Given the description of an element on the screen output the (x, y) to click on. 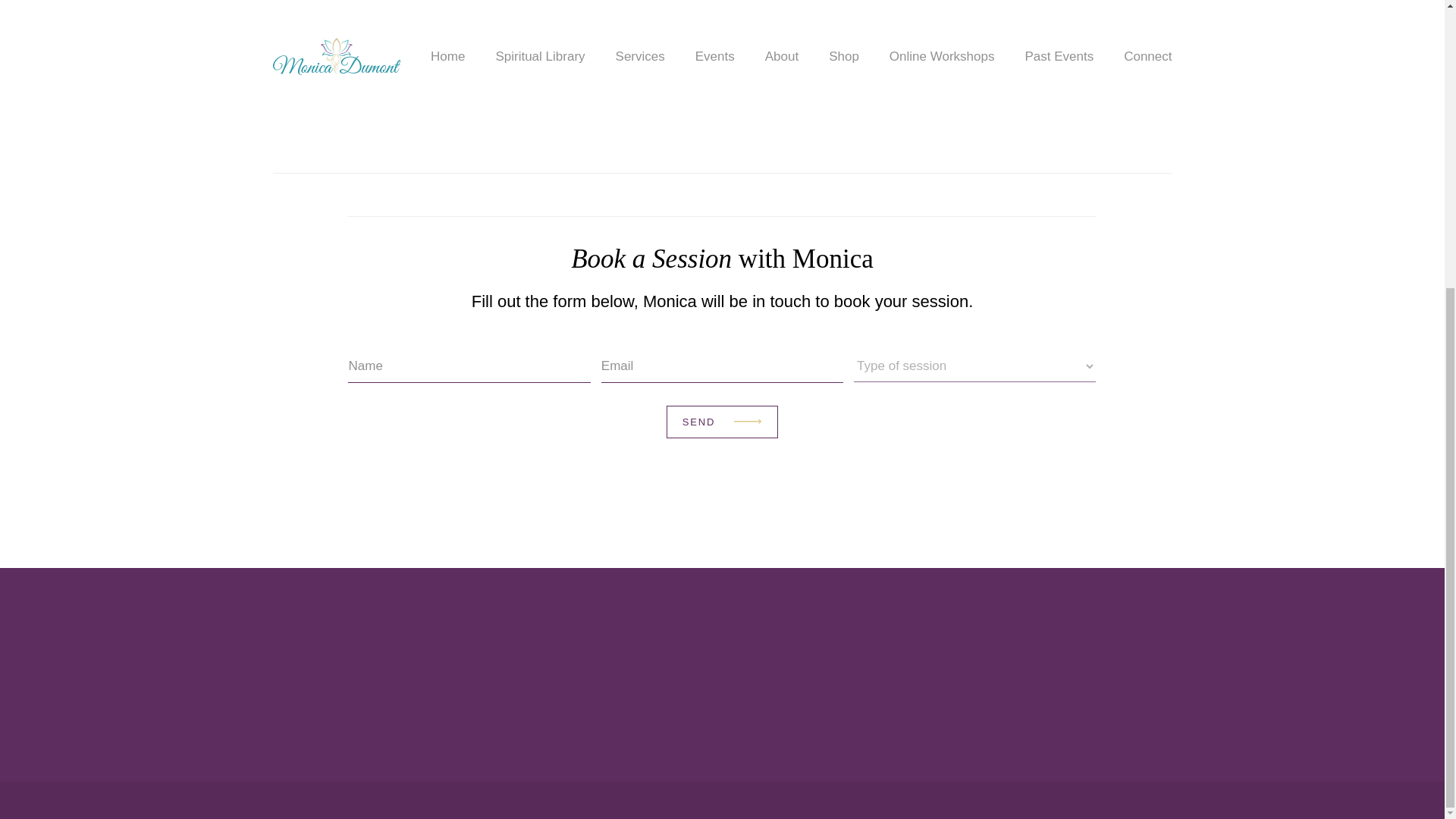
SEND (721, 421)
